Given the description of an element on the screen output the (x, y) to click on. 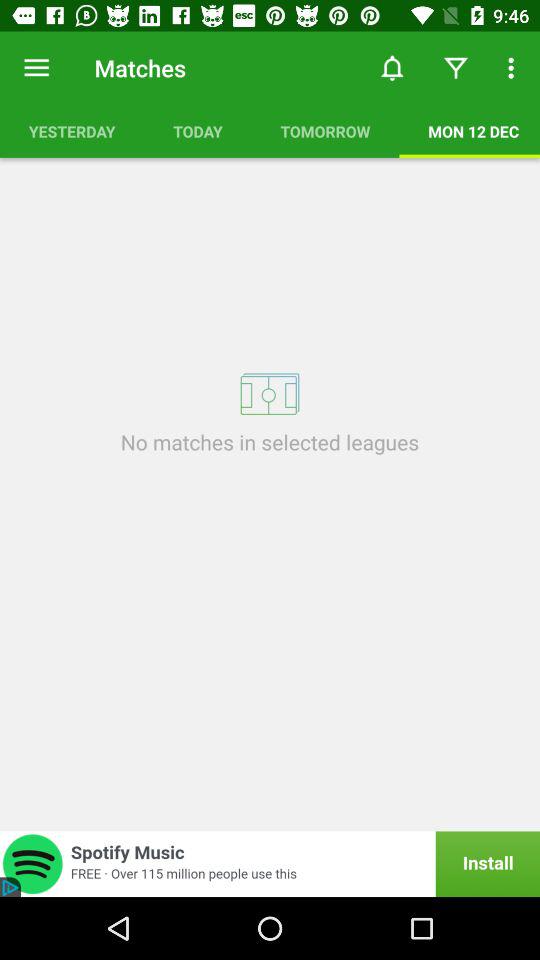
launch icon above no matches in icon (72, 131)
